Given the description of an element on the screen output the (x, y) to click on. 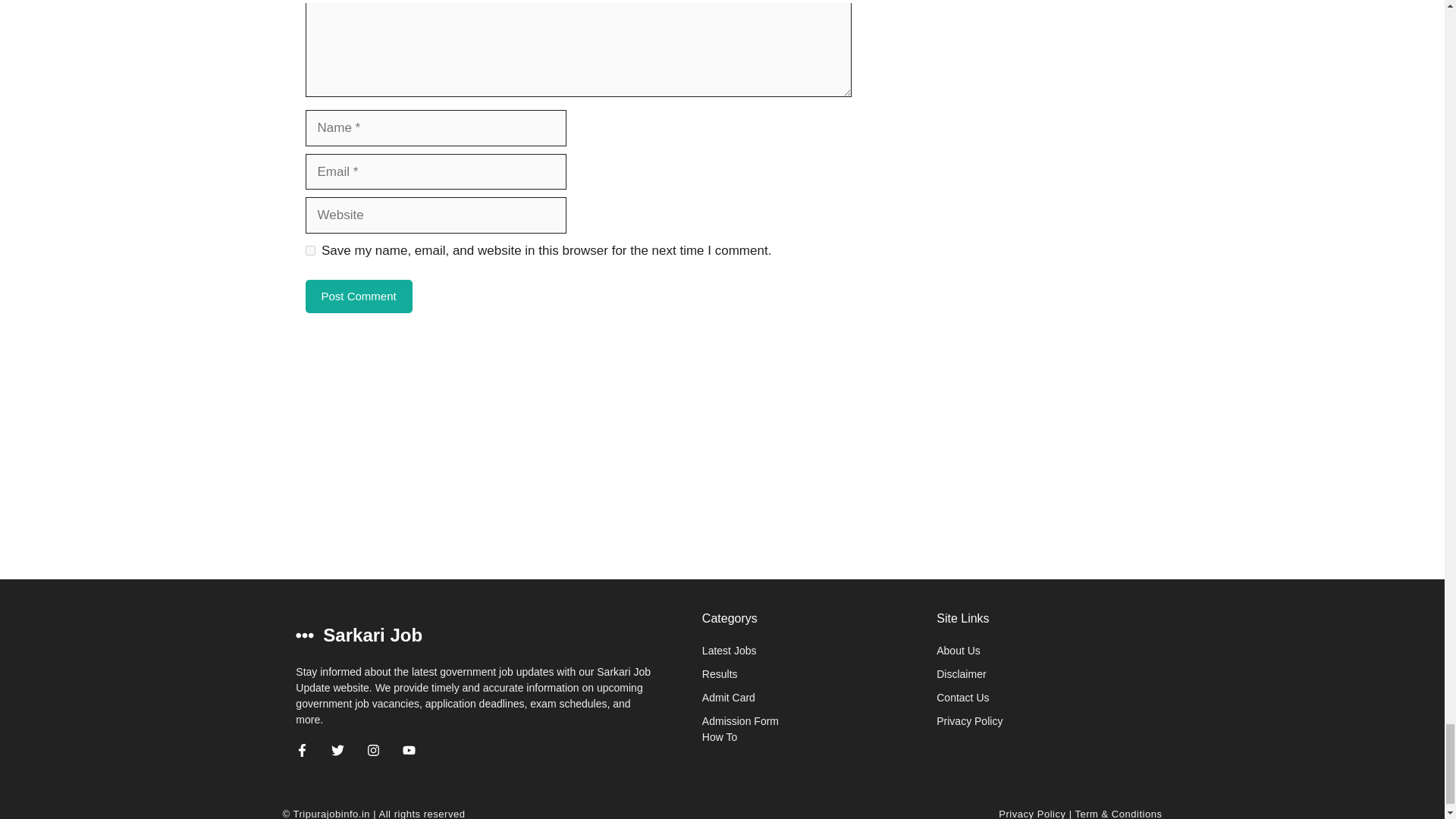
yes (309, 250)
Post Comment (358, 296)
Post Comment (358, 296)
